Given the description of an element on the screen output the (x, y) to click on. 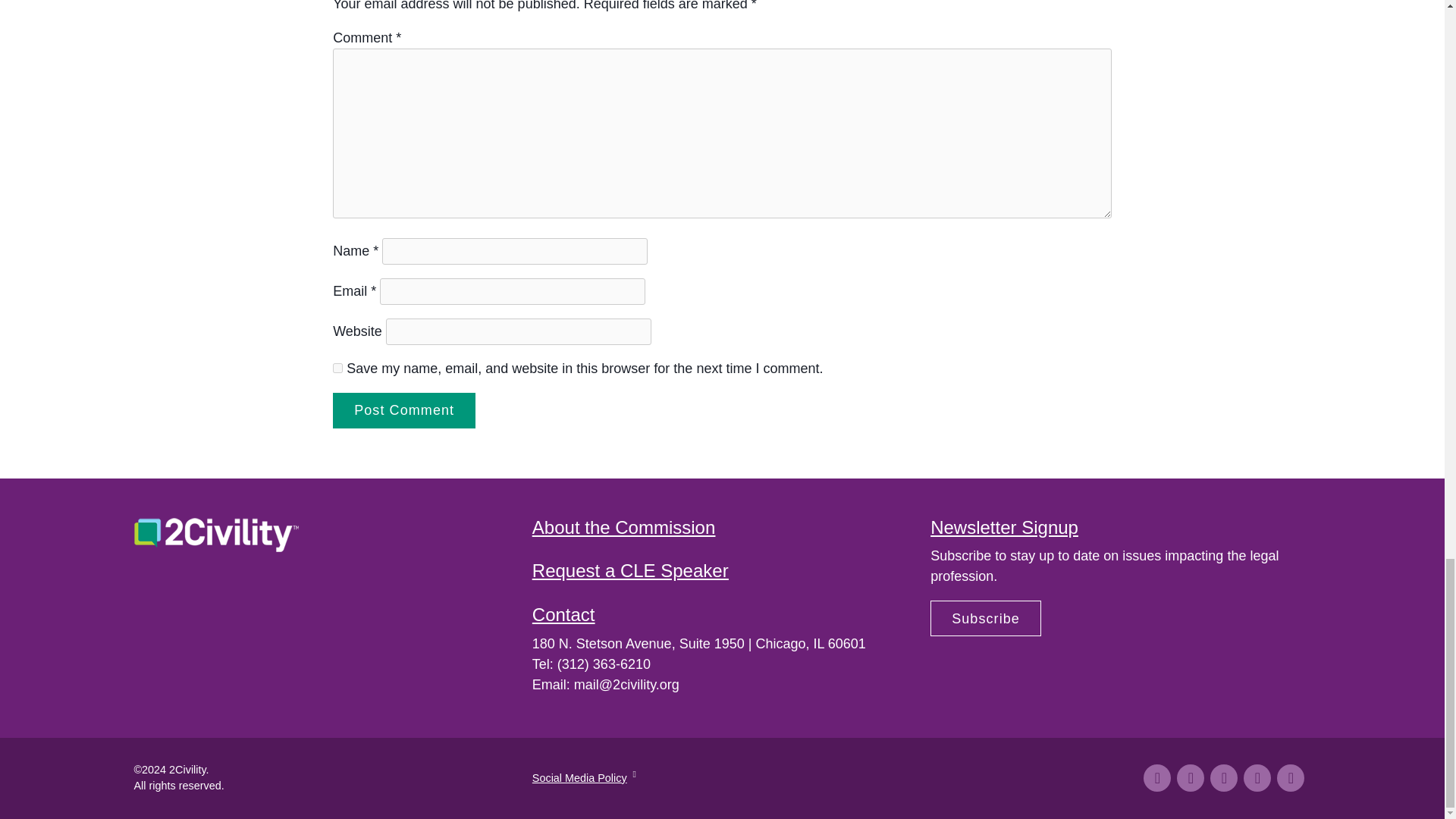
yes (337, 368)
Visit 2Civility on  (1257, 777)
Post Comment (404, 410)
Open in new tab (631, 773)
Post Comment (404, 410)
Visit 2Civility on  (1156, 777)
Visit 2Civility on  (1190, 777)
Visit 2Civility on  (1223, 777)
Visit 2Civility on  (1290, 777)
